Given the description of an element on the screen output the (x, y) to click on. 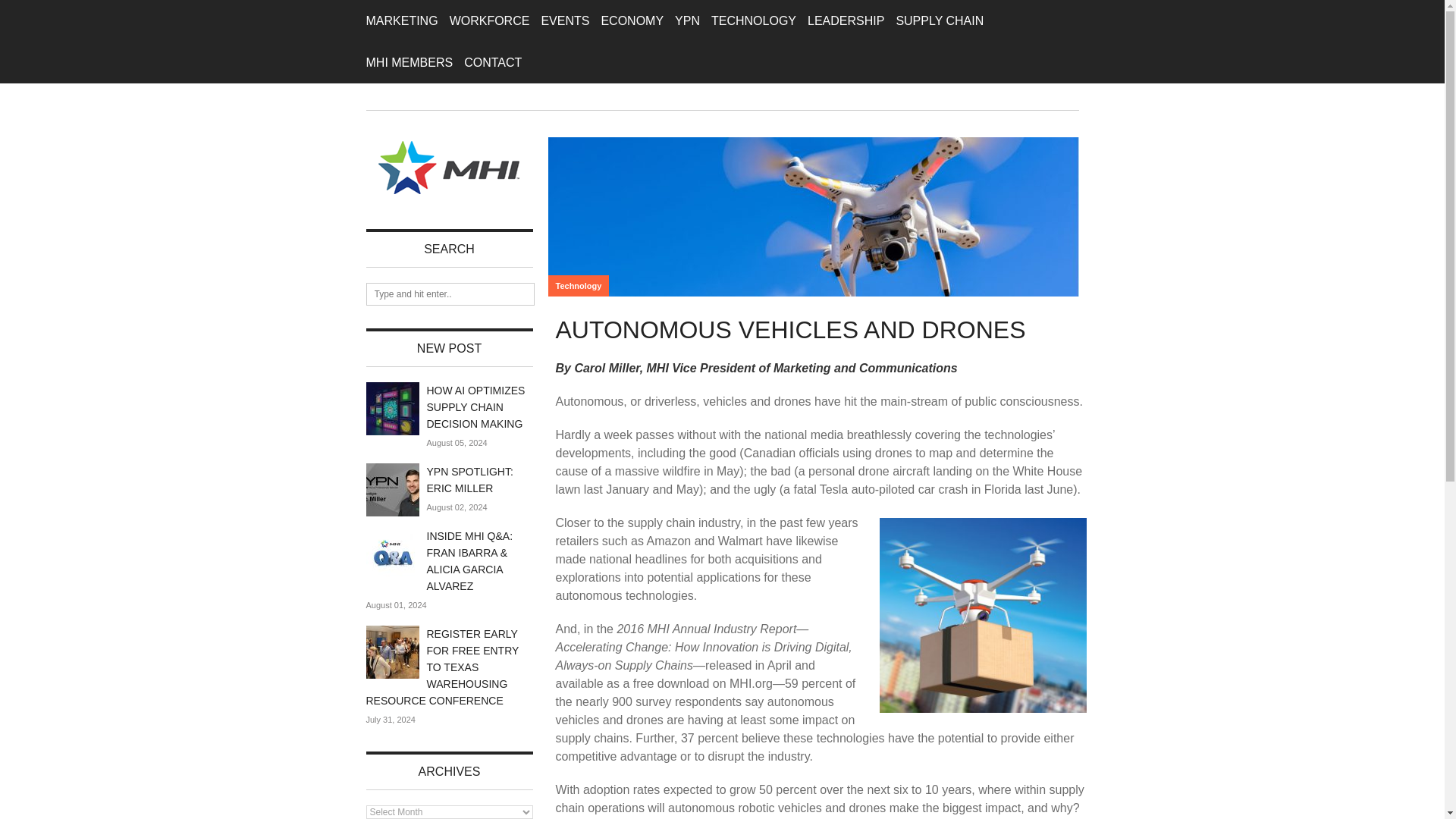
Permalink to YPN Spotlight: Eric Miller (392, 489)
EVENTS (564, 20)
YPN Spotlight: Eric Miller (469, 480)
Technology (577, 285)
YPN SPOTLIGHT: ERIC MILLER (469, 480)
LEADERSHIP (845, 20)
CONTACT (492, 62)
ECONOMY (631, 20)
How AI Optimizes Supply Chain Decision Making (475, 406)
HOW AI OPTIMIZES SUPPLY CHAIN DECISION MAKING (475, 406)
WORKFORCE (489, 20)
MHI MEMBERS (408, 62)
TECHNOLOGY (753, 20)
